Given the description of an element on the screen output the (x, y) to click on. 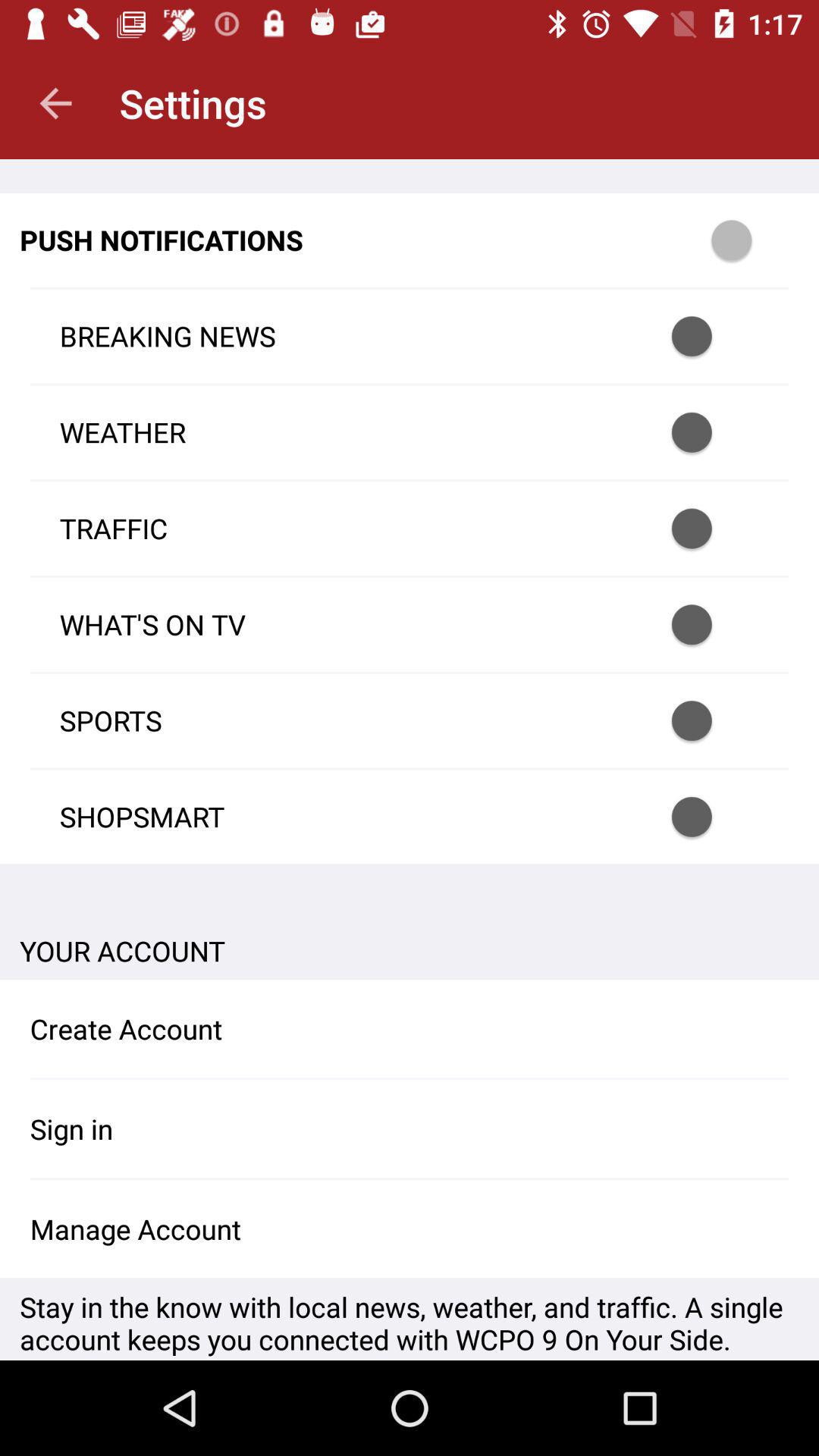
enable sports notifications (711, 720)
